Given the description of an element on the screen output the (x, y) to click on. 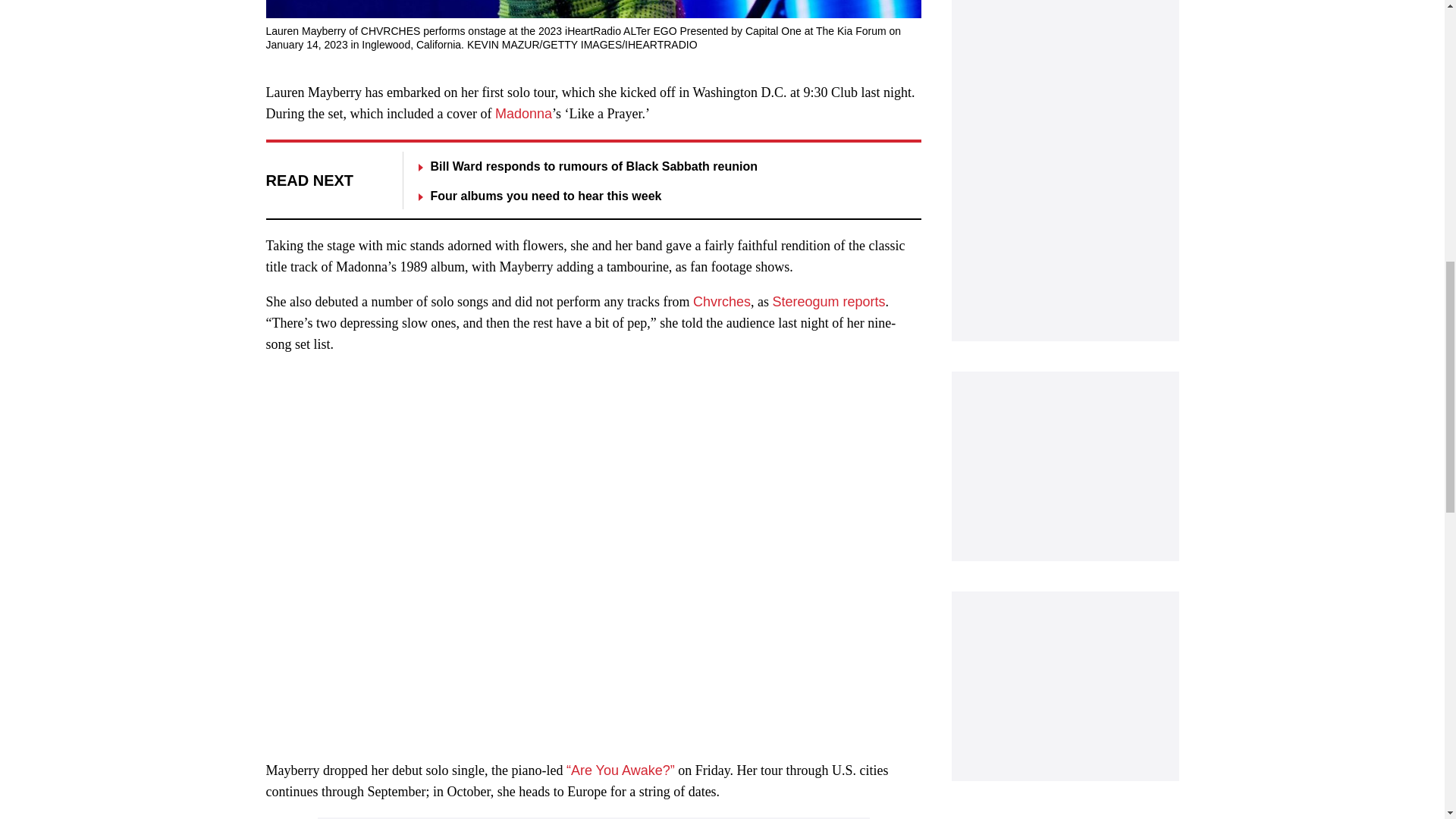
3rd party ad content (1063, 686)
3rd party ad content (1063, 466)
